Given the description of an element on the screen output the (x, y) to click on. 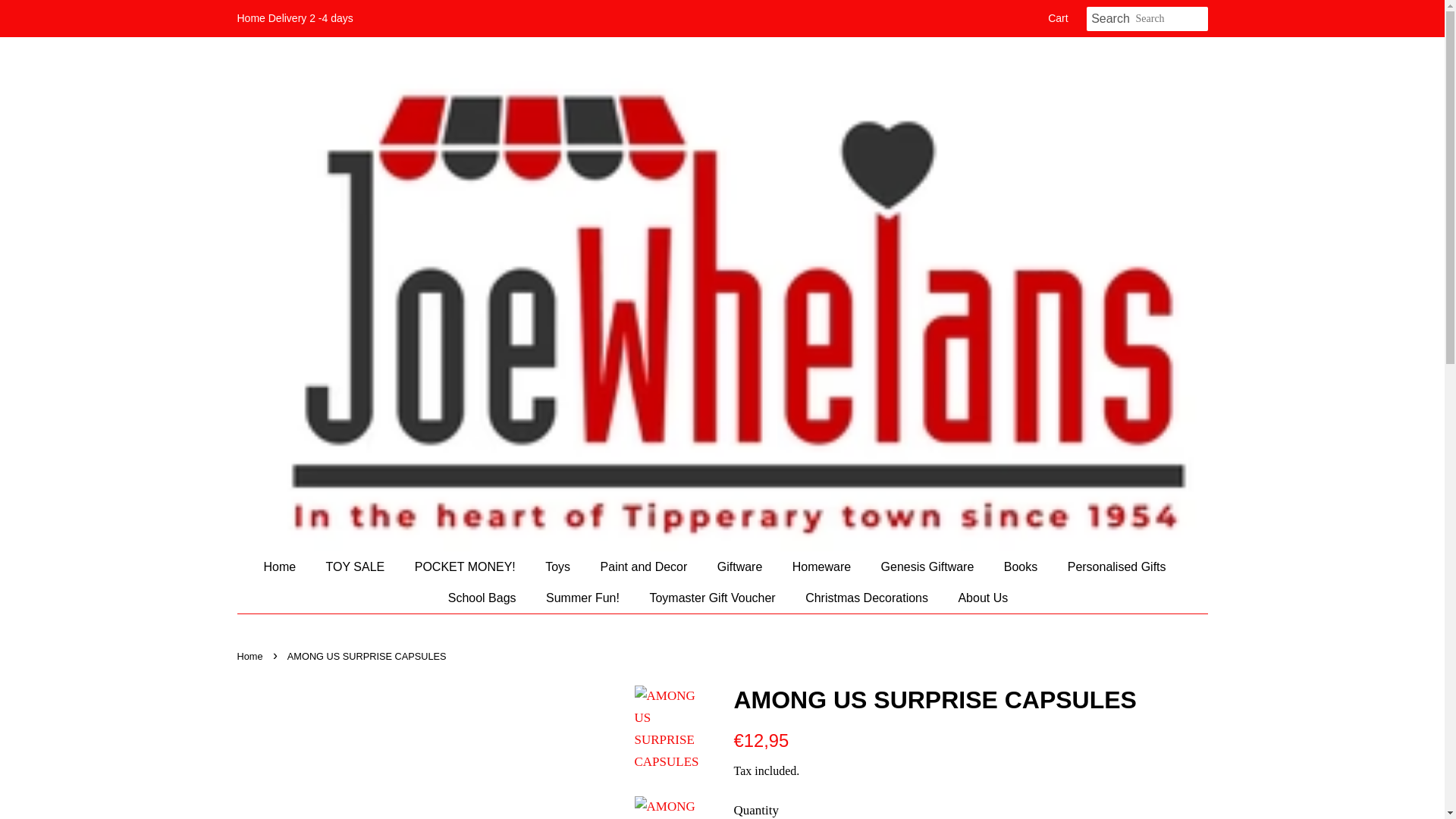
Back to the frontpage (250, 655)
Cart (1057, 18)
Search (1110, 18)
